Given the description of an element on the screen output the (x, y) to click on. 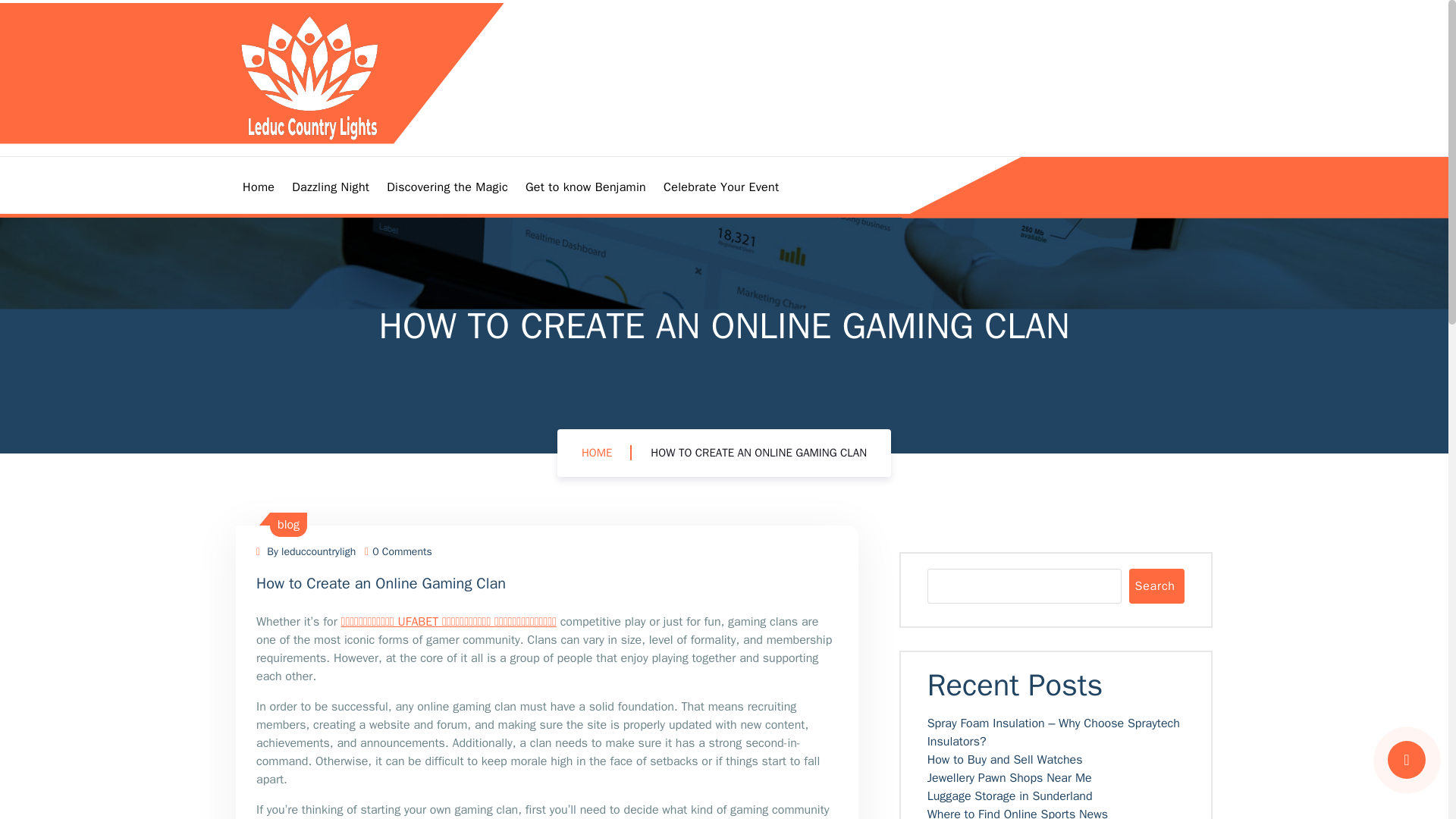
Get to know Benjamin (585, 187)
By leduccountryligh (305, 551)
Discovering the Magic (446, 187)
HOME (595, 452)
blog (288, 524)
0 Comments (398, 551)
Where to Find Online Sports News (1017, 812)
Discovering the Magic (446, 187)
How to Buy and Sell Watches (1005, 759)
Celebrate Your Event (721, 187)
Celebrate Your Event (721, 187)
Home (258, 187)
Jewellery Pawn Shops Near Me (1009, 777)
HOW TO CREATE AN ONLINE GAMING CLAN (758, 452)
Home (258, 187)
